Given the description of an element on the screen output the (x, y) to click on. 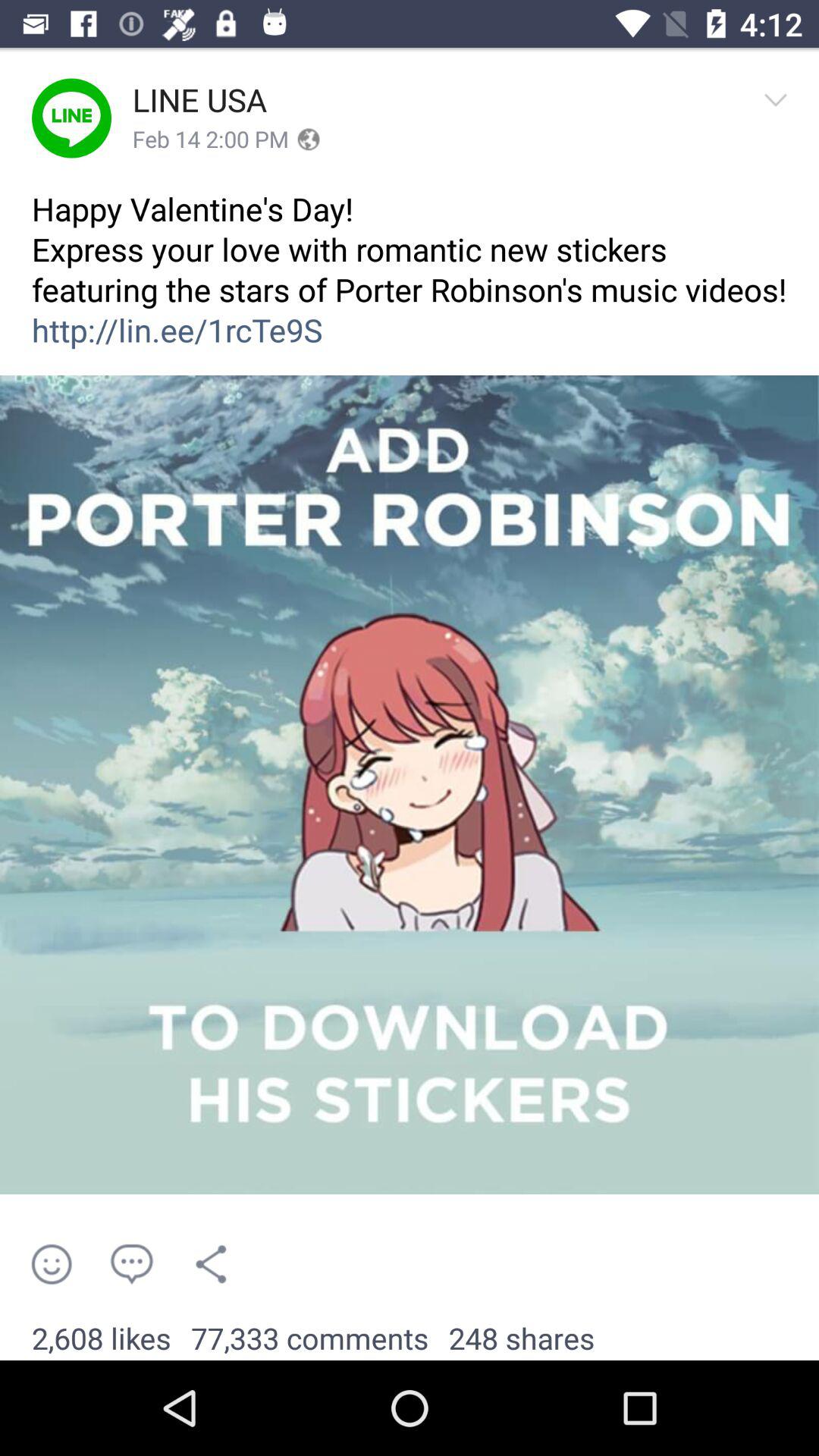
press app below line usa icon (210, 139)
